Given the description of an element on the screen output the (x, y) to click on. 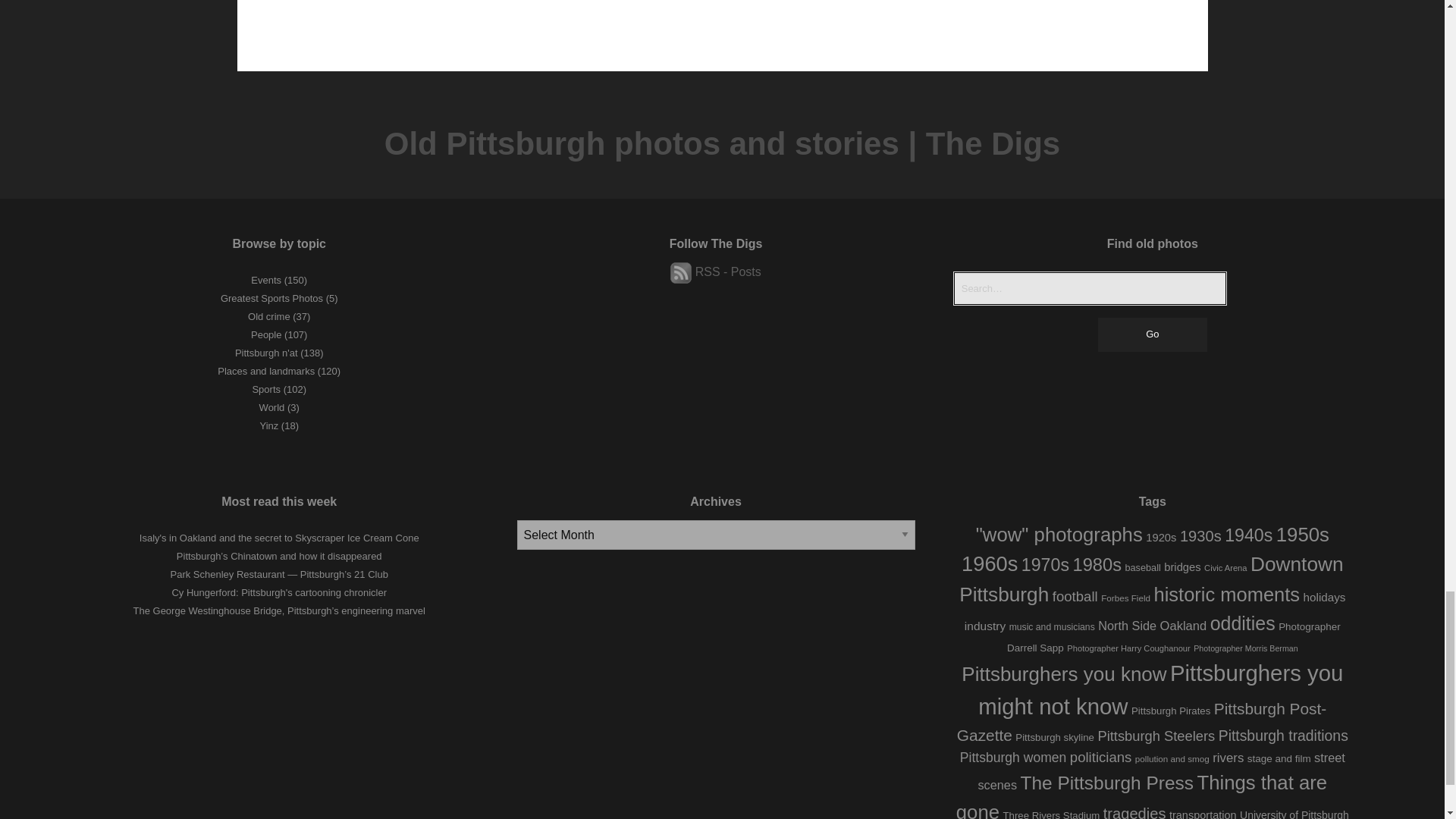
Go (1152, 334)
Go (1152, 334)
